Given the description of an element on the screen output the (x, y) to click on. 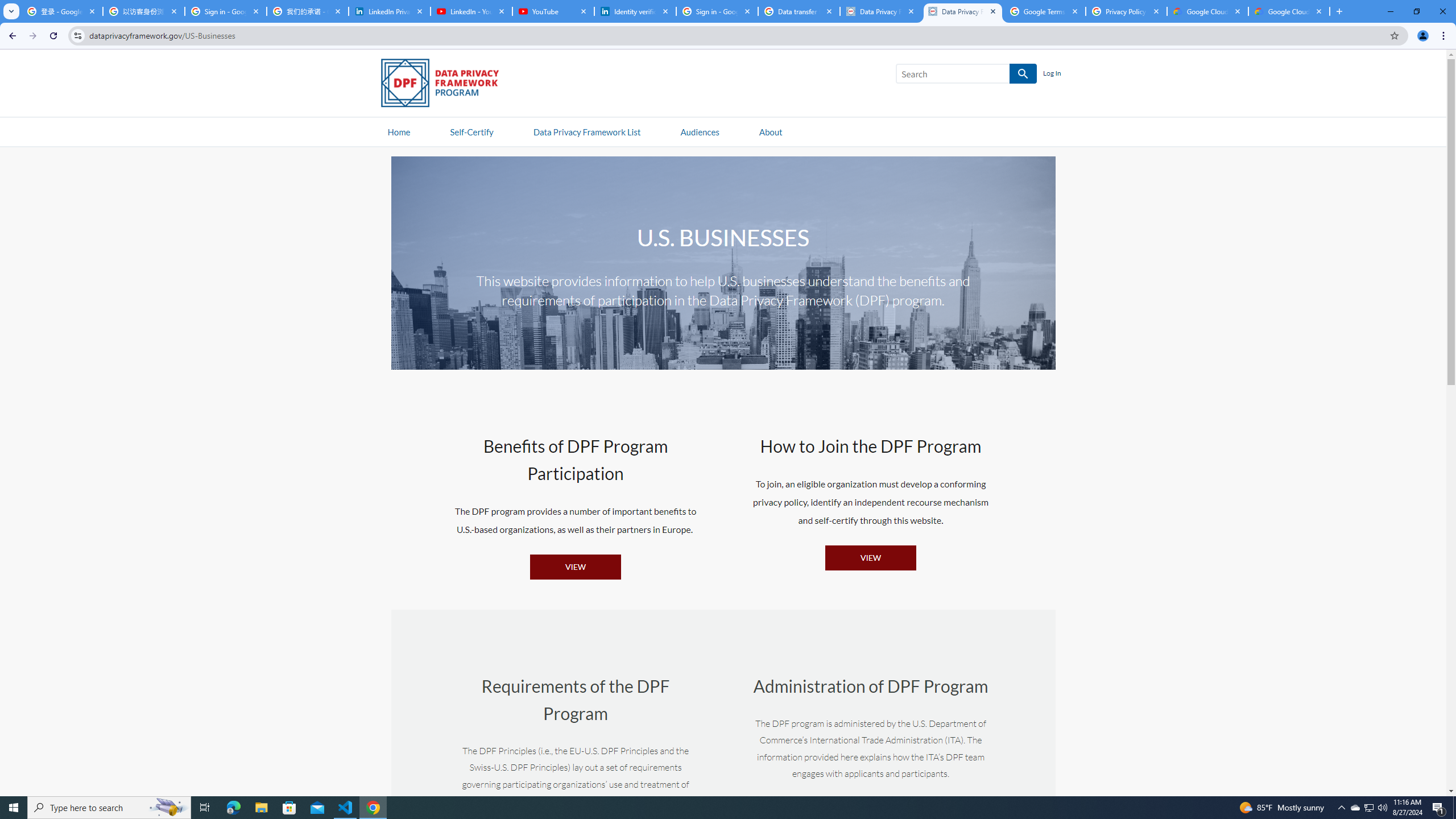
AutomationID: navitem (699, 131)
